Given the description of an element on the screen output the (x, y) to click on. 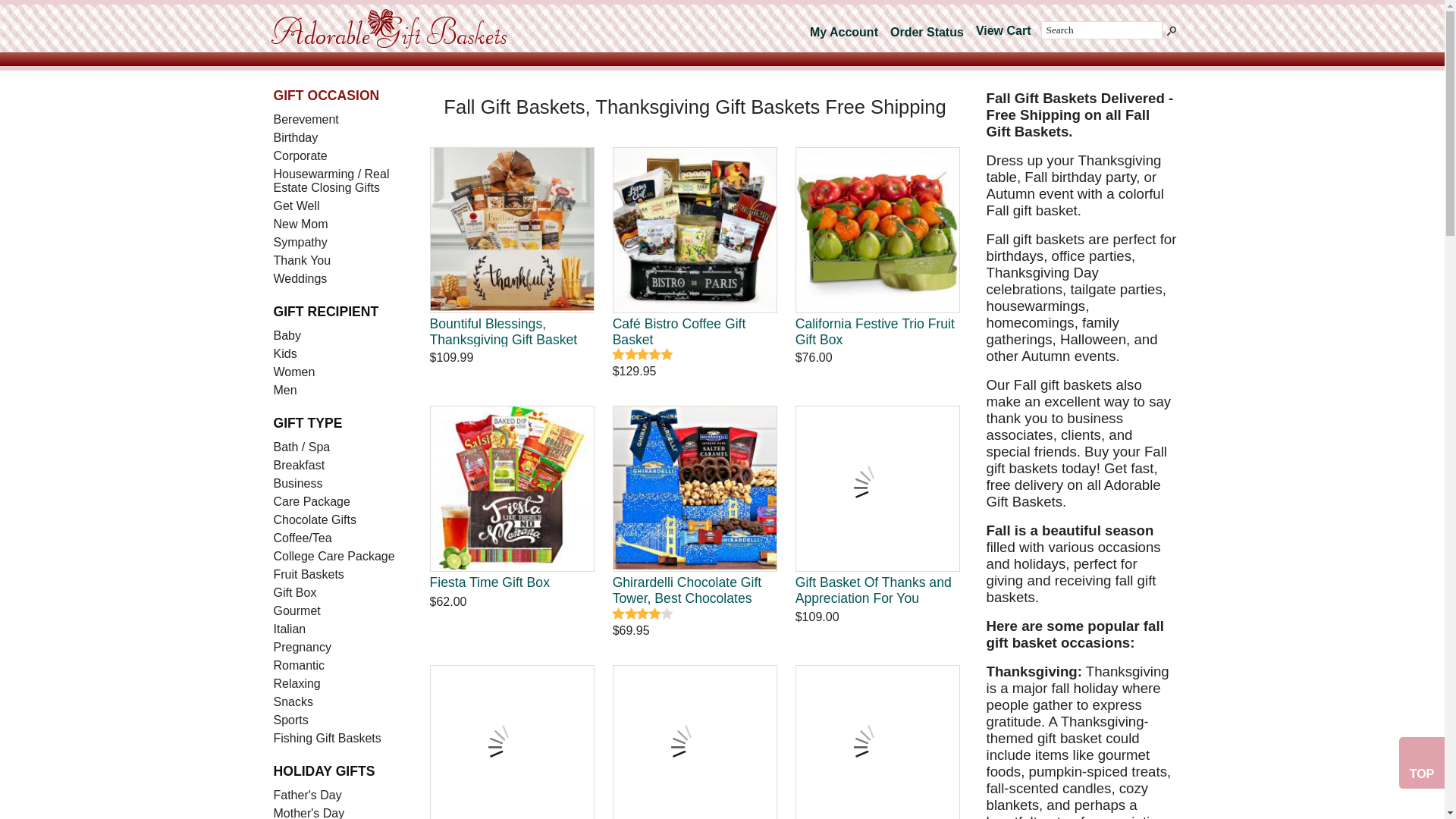
Men (339, 390)
Gift Box (339, 592)
Thank You (339, 260)
Corporate (339, 156)
Sympathy (339, 242)
Relaxing (339, 683)
Men (339, 390)
Weddings (339, 279)
Order Status (926, 31)
MY GIFT BASKET ACCOUNT (843, 31)
